Given the description of an element on the screen output the (x, y) to click on. 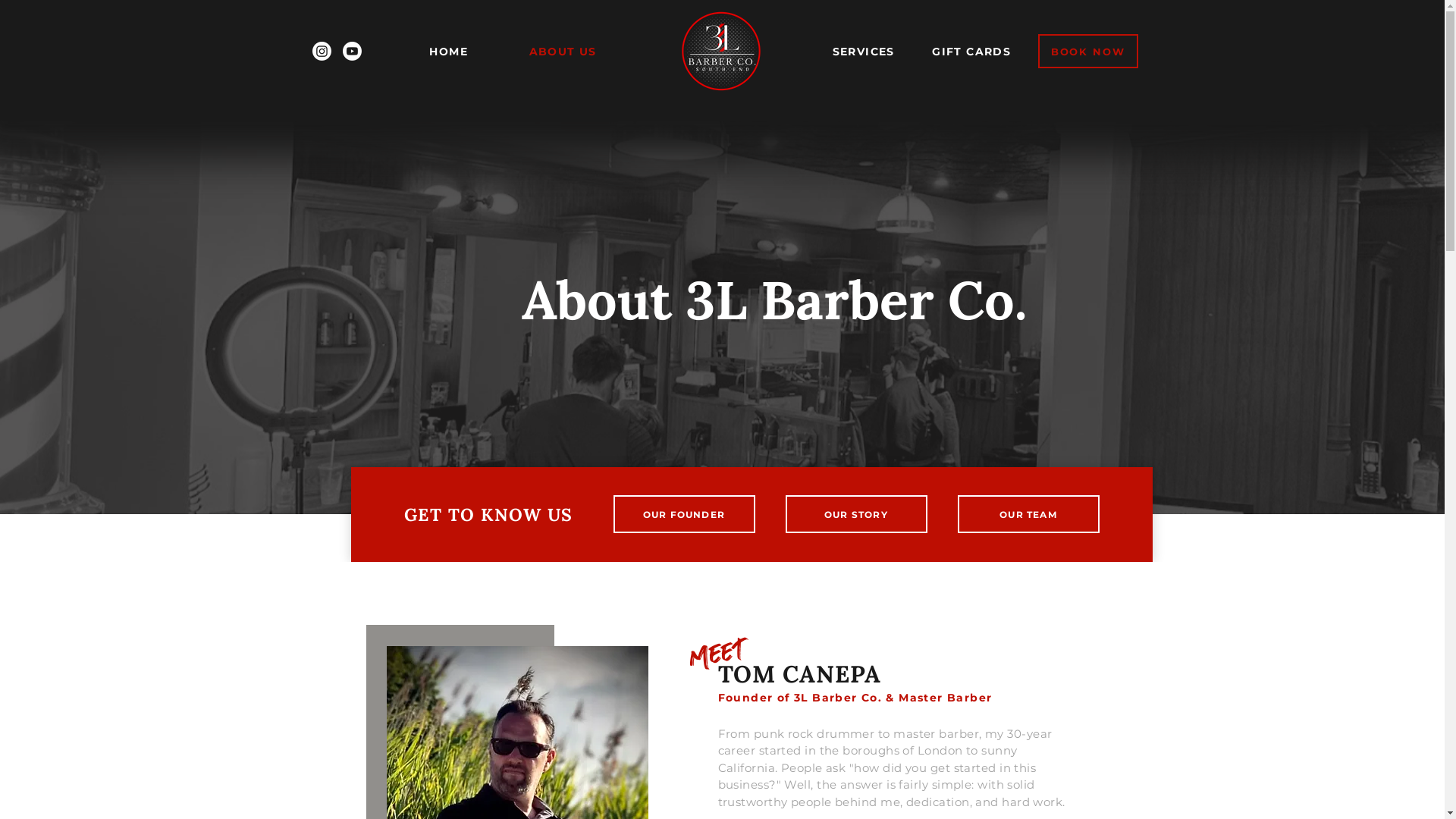
OUR FOUNDER Element type: text (683, 514)
SERVICES Element type: text (863, 51)
BOOK NOW Element type: text (1088, 51)
HOME Element type: text (448, 51)
GIFT CARDS Element type: text (971, 51)
OUR STORY Element type: text (856, 514)
ABOUT US Element type: text (562, 51)
OUR TEAM Element type: text (1027, 514)
